Given the description of an element on the screen output the (x, y) to click on. 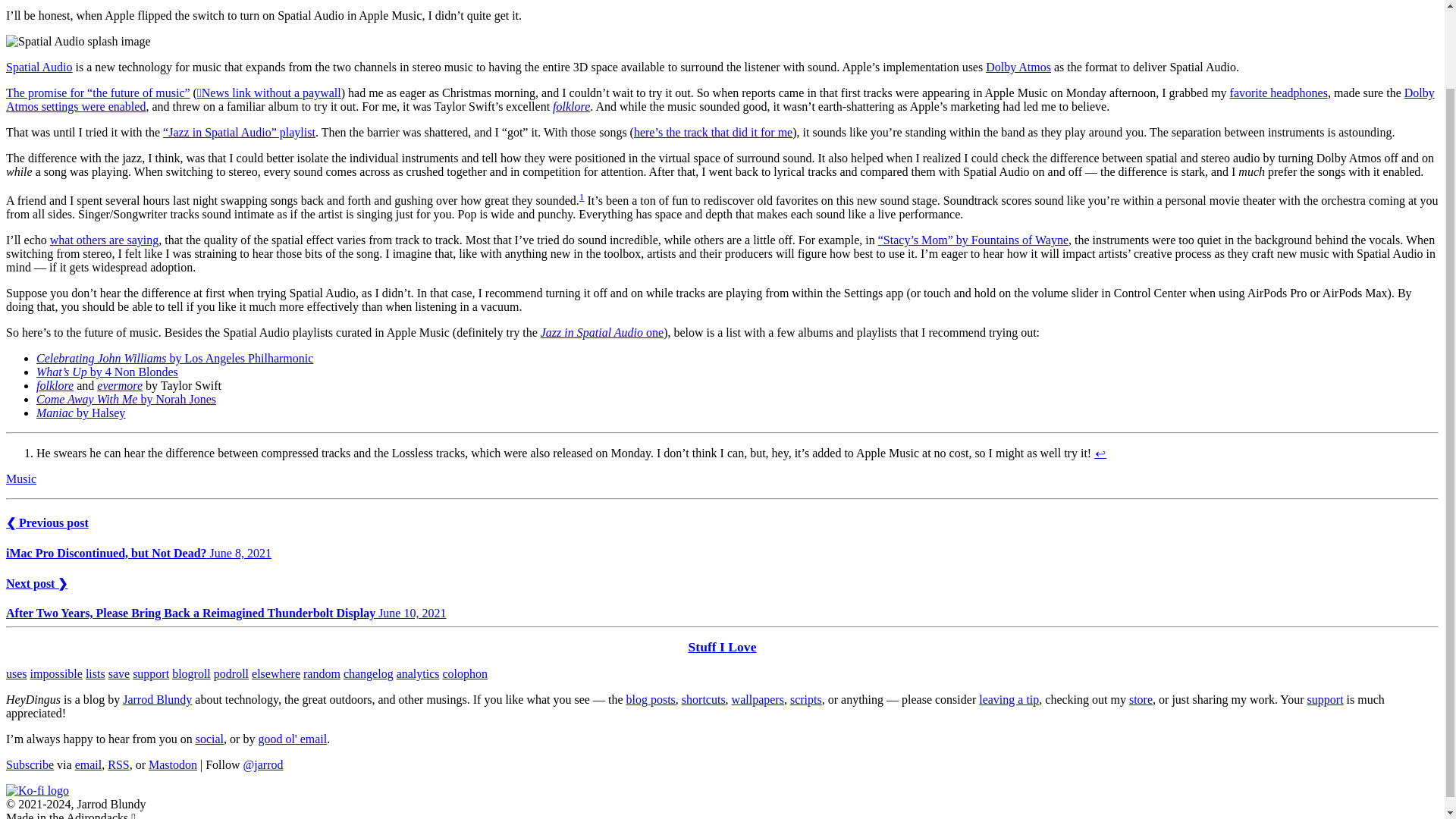
evermore (119, 385)
Maniac by Halsey (80, 412)
Jazz in Spatial Audio one (601, 332)
uses (16, 673)
blogroll (191, 673)
Come Away With Me by Norah Jones (125, 399)
Dolby Atmos (1018, 66)
what others are saying (103, 239)
lists (94, 673)
save (118, 673)
favorite headphones (1278, 92)
folklore (55, 385)
impossible (56, 673)
return to article (1100, 452)
Stuff I Love (722, 646)
